Given the description of an element on the screen output the (x, y) to click on. 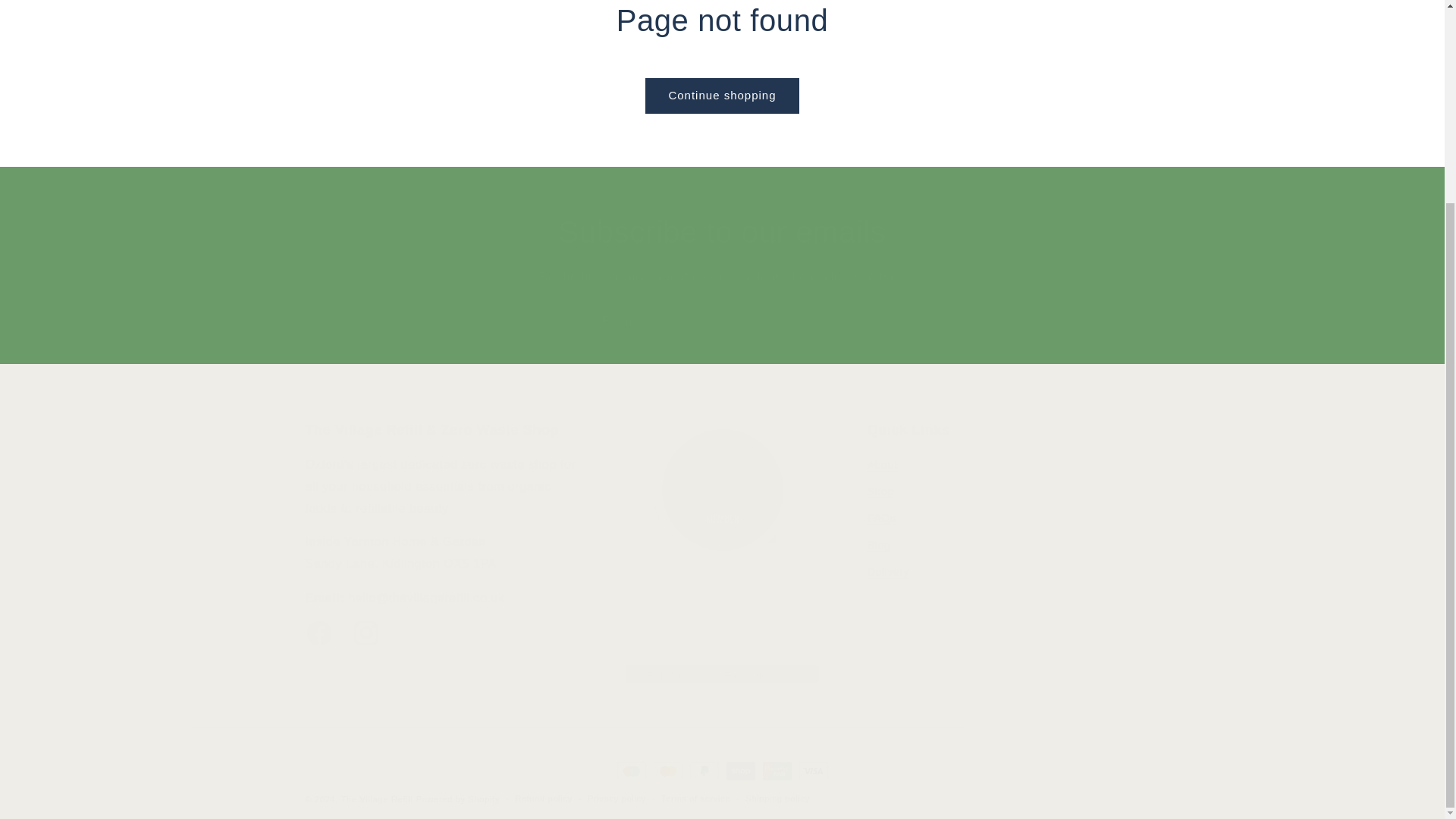
Subscribe to our emails (1003, 538)
Email (721, 231)
